Given the description of an element on the screen output the (x, y) to click on. 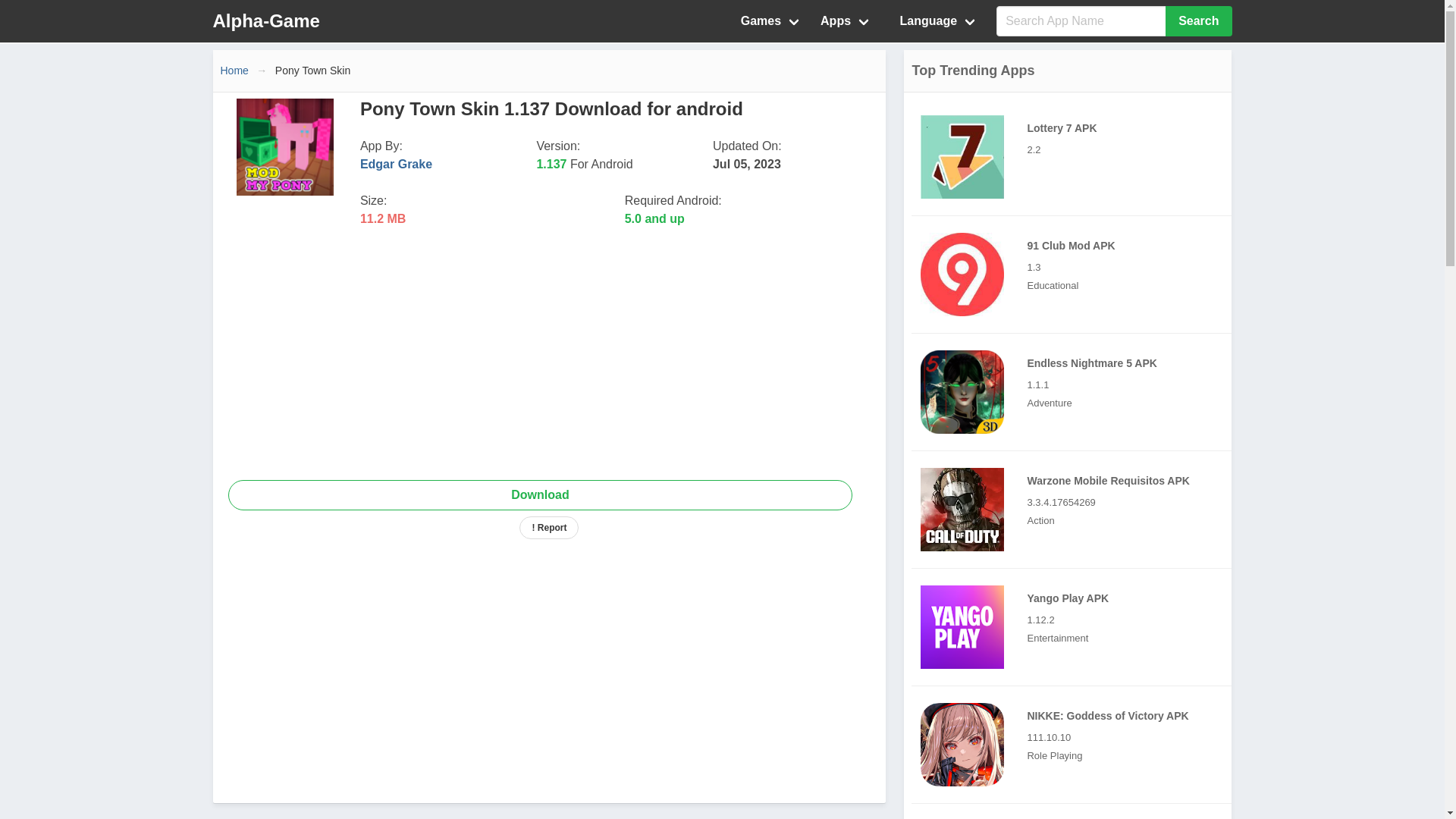
Alpha-Game (266, 21)
Games (771, 21)
91 Club Mod APK (1075, 274)
NIKKE: Goddess of Victory APK (962, 744)
91 Club Mod APK (962, 274)
Report Problem for this APP (548, 527)
Endless Nightmare 5 APK (962, 392)
Endless Nightmare 5 APK (1075, 392)
Lottery 7 APK (962, 157)
Pony Town Skin 1.137 Download for android icon (284, 146)
Apps (845, 21)
Yango Play APK (1075, 627)
Language (929, 21)
